Given the description of an element on the screen output the (x, y) to click on. 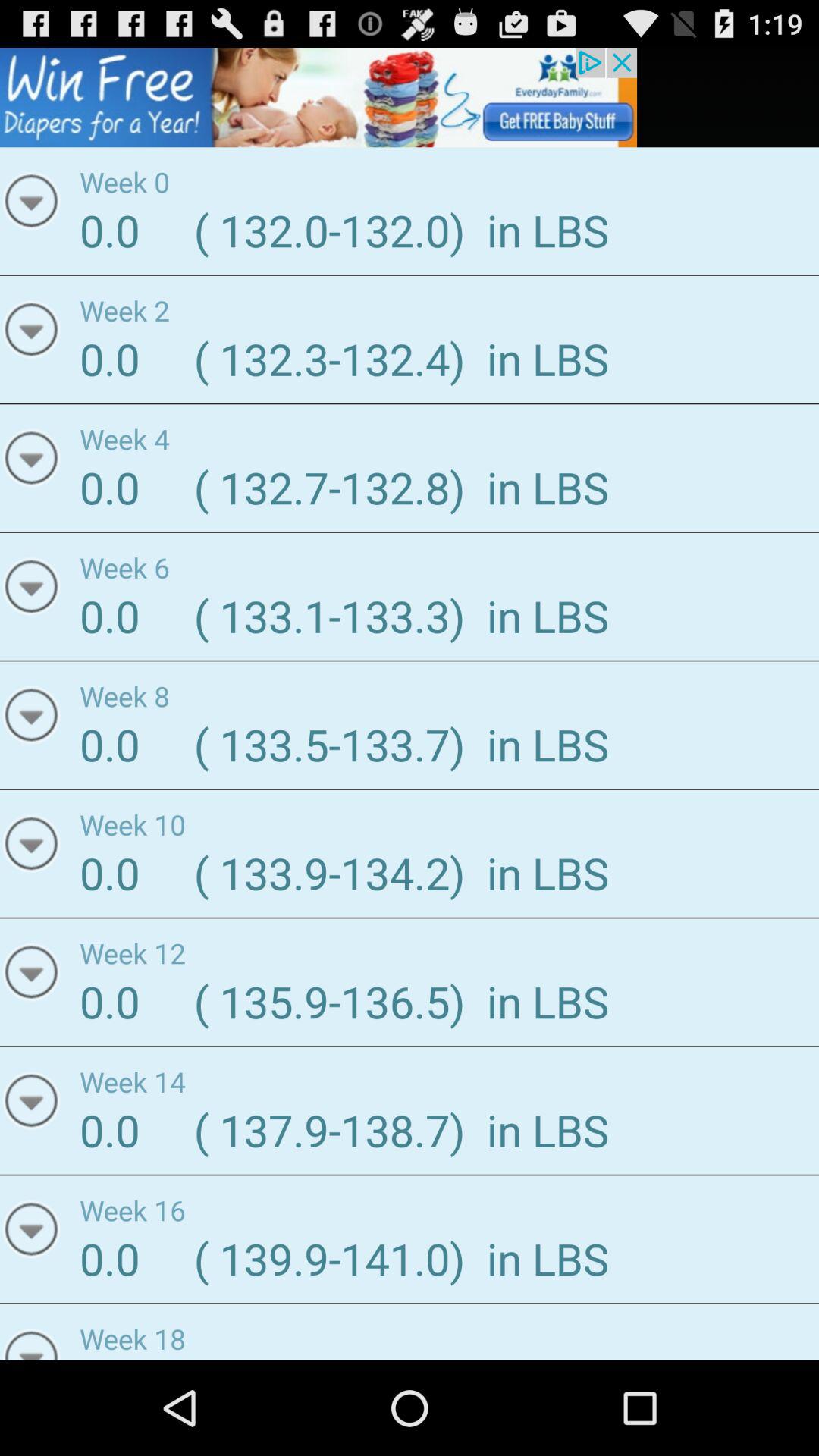
advertisement (318, 97)
